Given the description of an element on the screen output the (x, y) to click on. 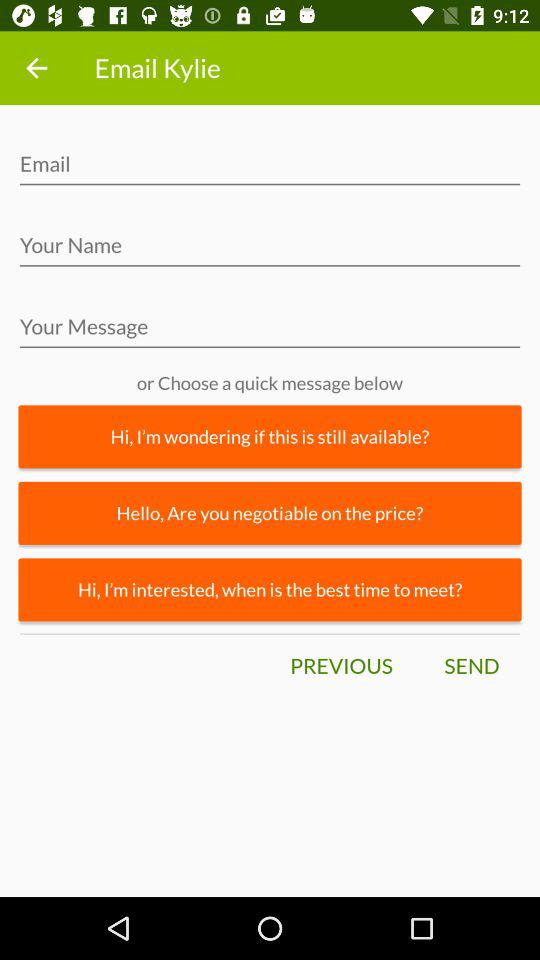
jump to the send item (471, 666)
